Given the description of an element on the screen output the (x, y) to click on. 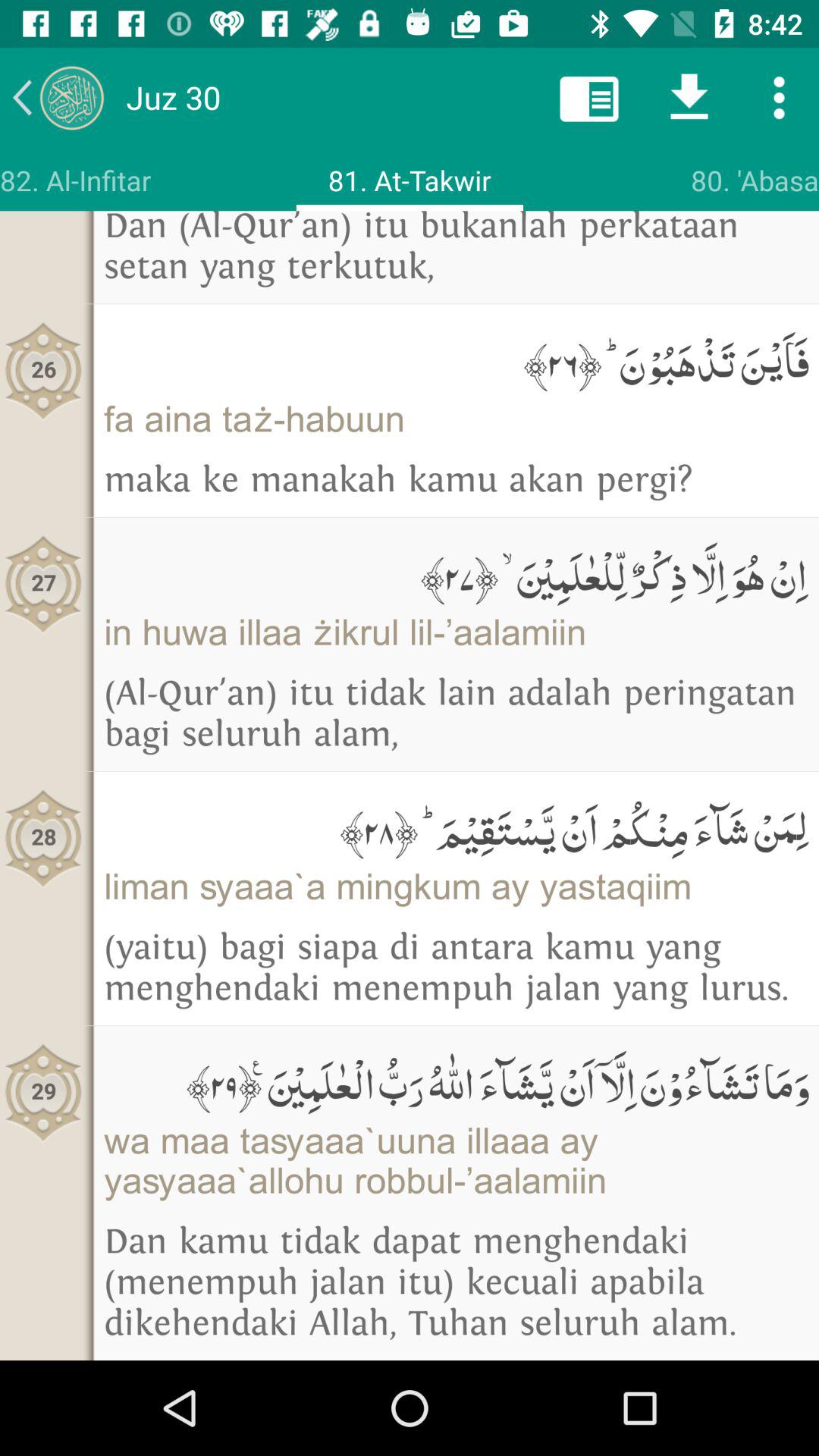
turn on icon below dan al qur (456, 359)
